Given the description of an element on the screen output the (x, y) to click on. 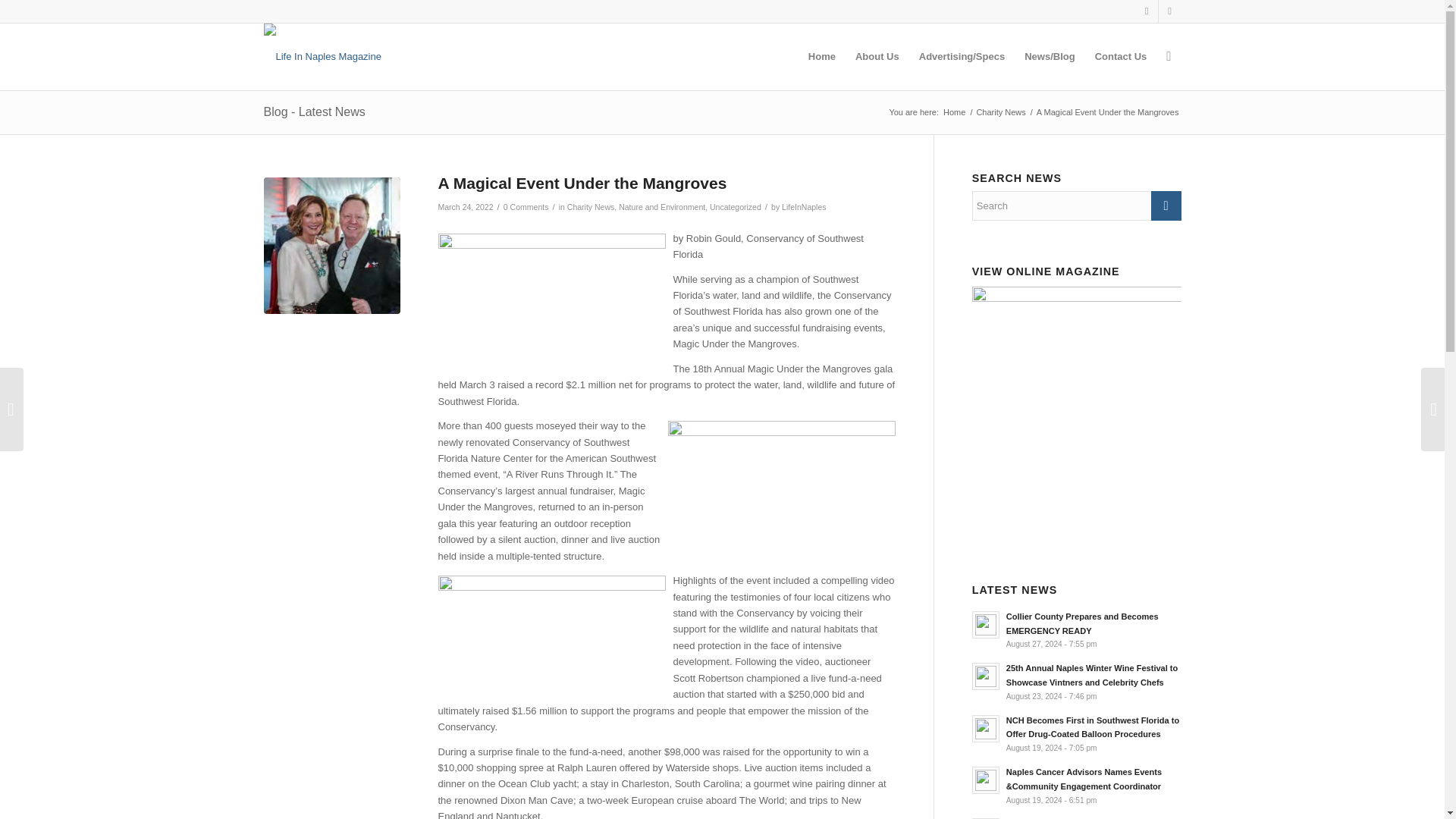
Twitter (1169, 11)
Home (954, 112)
Posts by LifeInNaples (803, 206)
Permanent Link: Blog - Latest News (314, 111)
terry-bob-edwards (331, 245)
Charity News (590, 206)
Contact Us (1120, 56)
Life In Naples Magazine (954, 112)
Nature and Environment (661, 206)
Facebook (1146, 11)
